Given the description of an element on the screen output the (x, y) to click on. 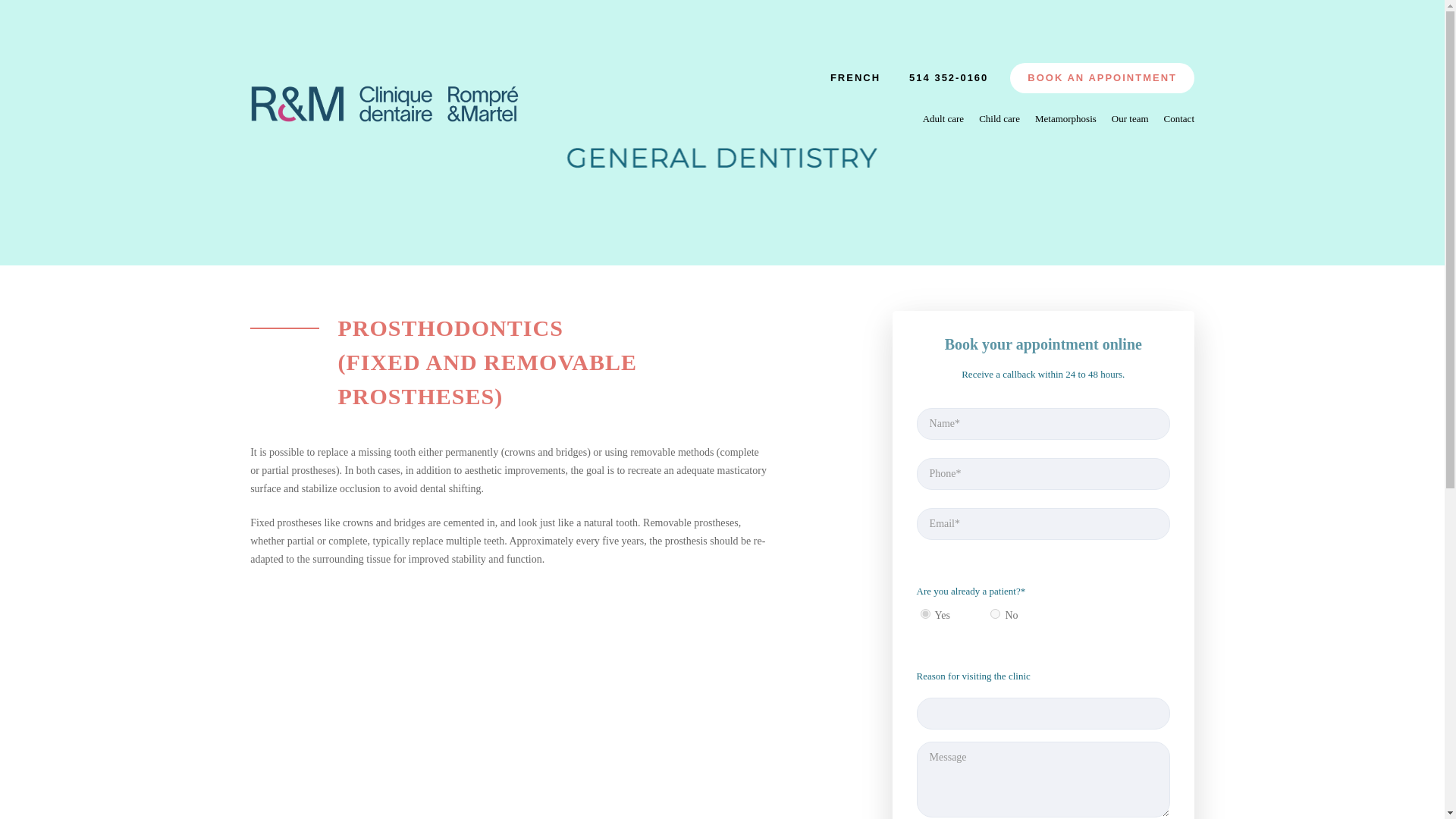
514 352-0160 (948, 78)
FRENCH (855, 78)
BOOK AN APPOINTMENT (1101, 78)
Our team (1130, 118)
Adult care (943, 118)
Child care (999, 118)
Metamorphosis (1065, 118)
French (855, 78)
Yes (925, 614)
Contact (1178, 118)
No (995, 614)
